Given the description of an element on the screen output the (x, y) to click on. 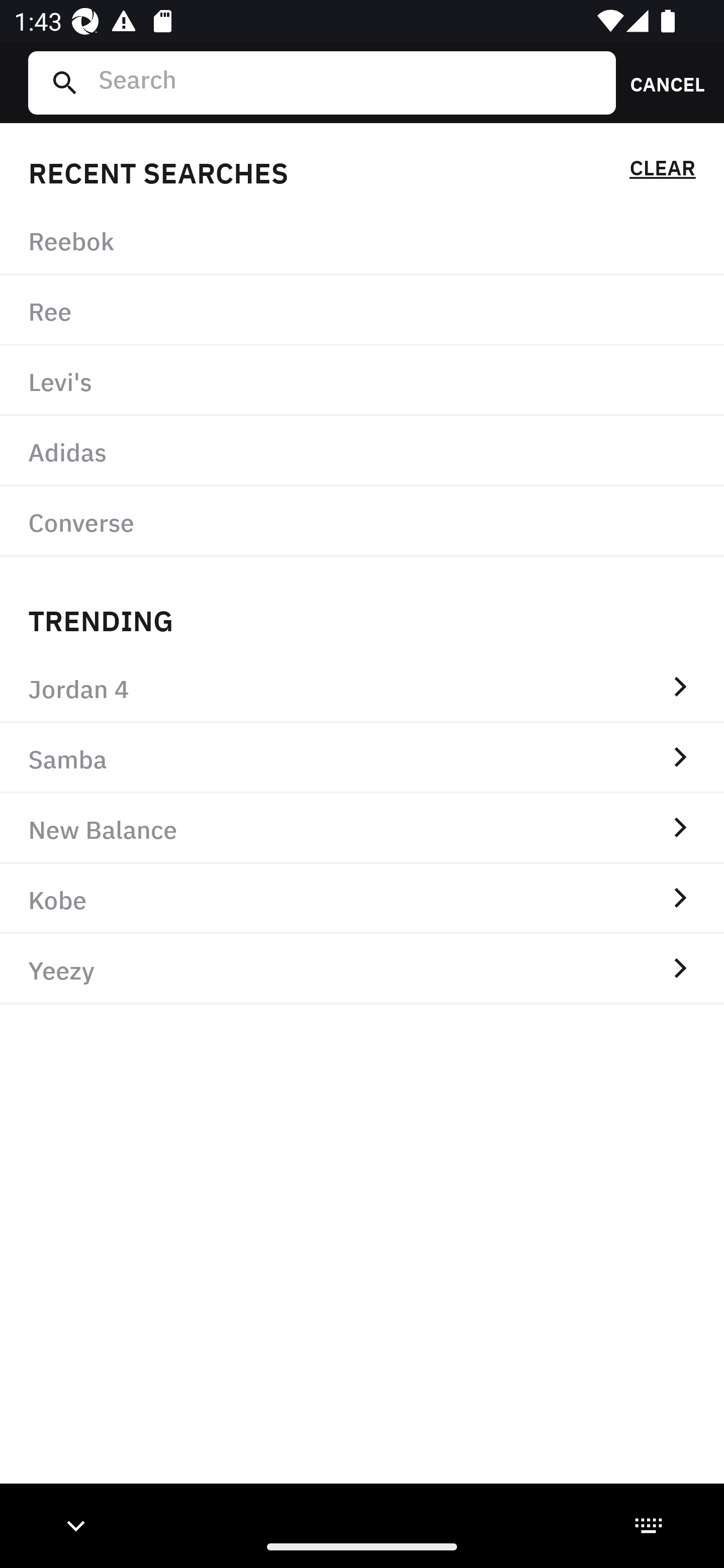
CANCEL (660, 82)
Search (349, 82)
CLEAR (662, 170)
Reebok (362, 240)
Ree (362, 310)
Levi's (362, 380)
Adidas (362, 450)
Converse (362, 521)
Jordan 4  (362, 687)
Samba  (362, 757)
New Balance  (362, 828)
Kobe  (362, 898)
Yeezy  (362, 969)
